Given the description of an element on the screen output the (x, y) to click on. 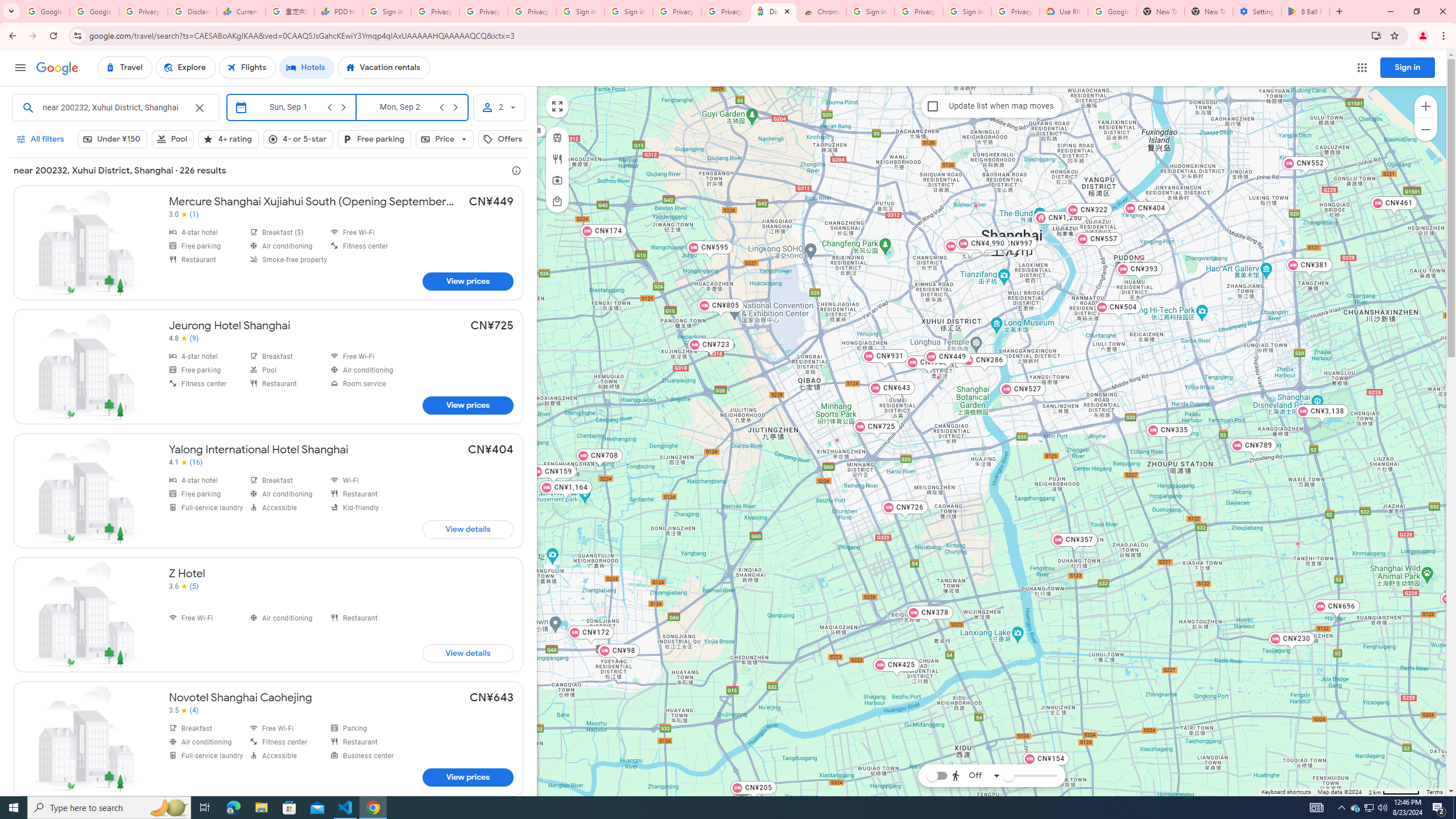
8 Ball Pool - Apps on Google Play (1305, 11)
Vienna International Hotel (975, 205)
Sign in - Google Accounts (387, 11)
All filters (40, 139)
Settings - System (1257, 11)
Drive (972, 743)
